Given the description of an element on the screen output the (x, y) to click on. 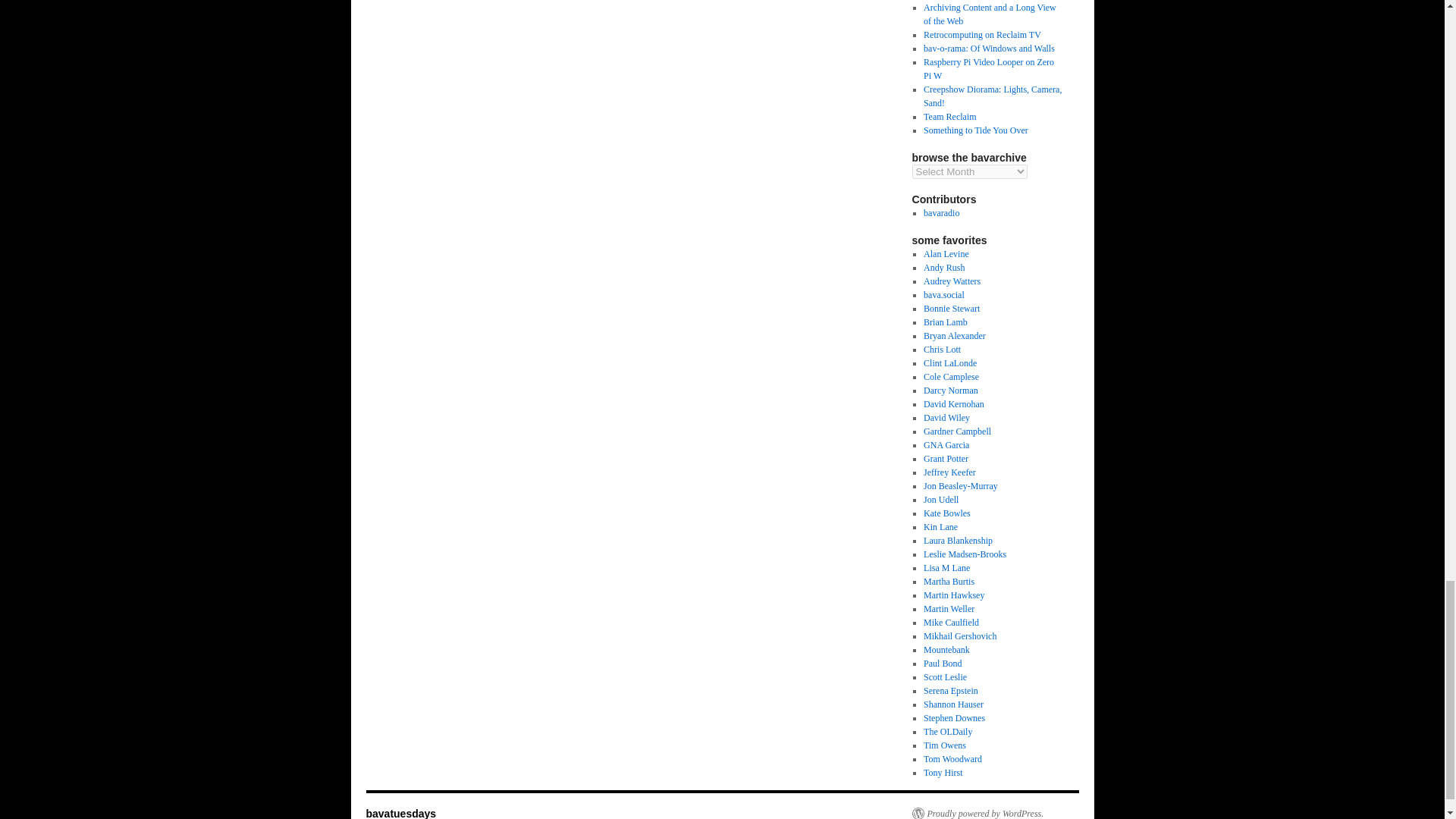
bava on the radio (941, 213)
Lauren Blankenship lays it down (957, 540)
